Given the description of an element on the screen output the (x, y) to click on. 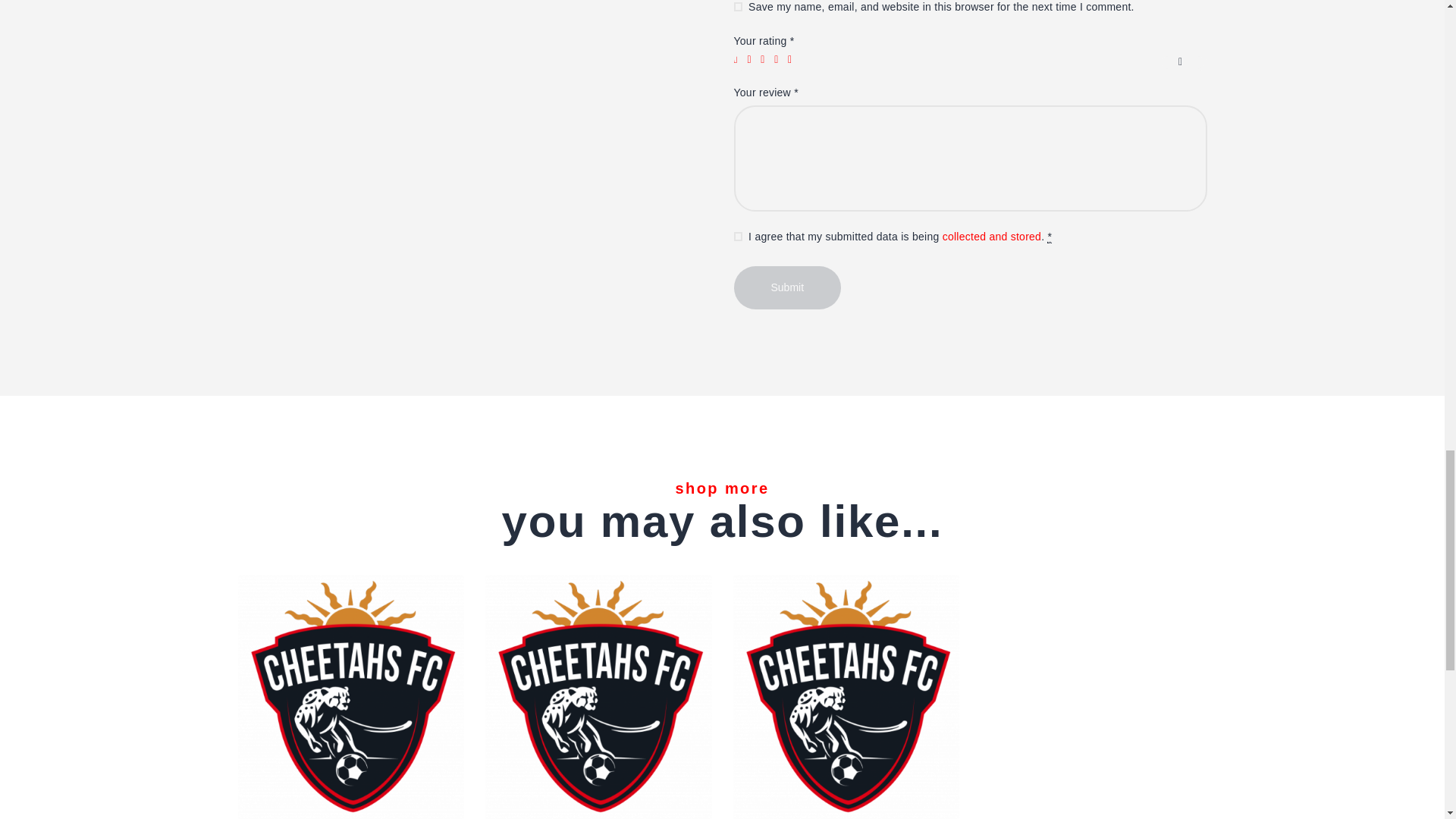
Submit (787, 287)
1 (738, 59)
